Given the description of an element on the screen output the (x, y) to click on. 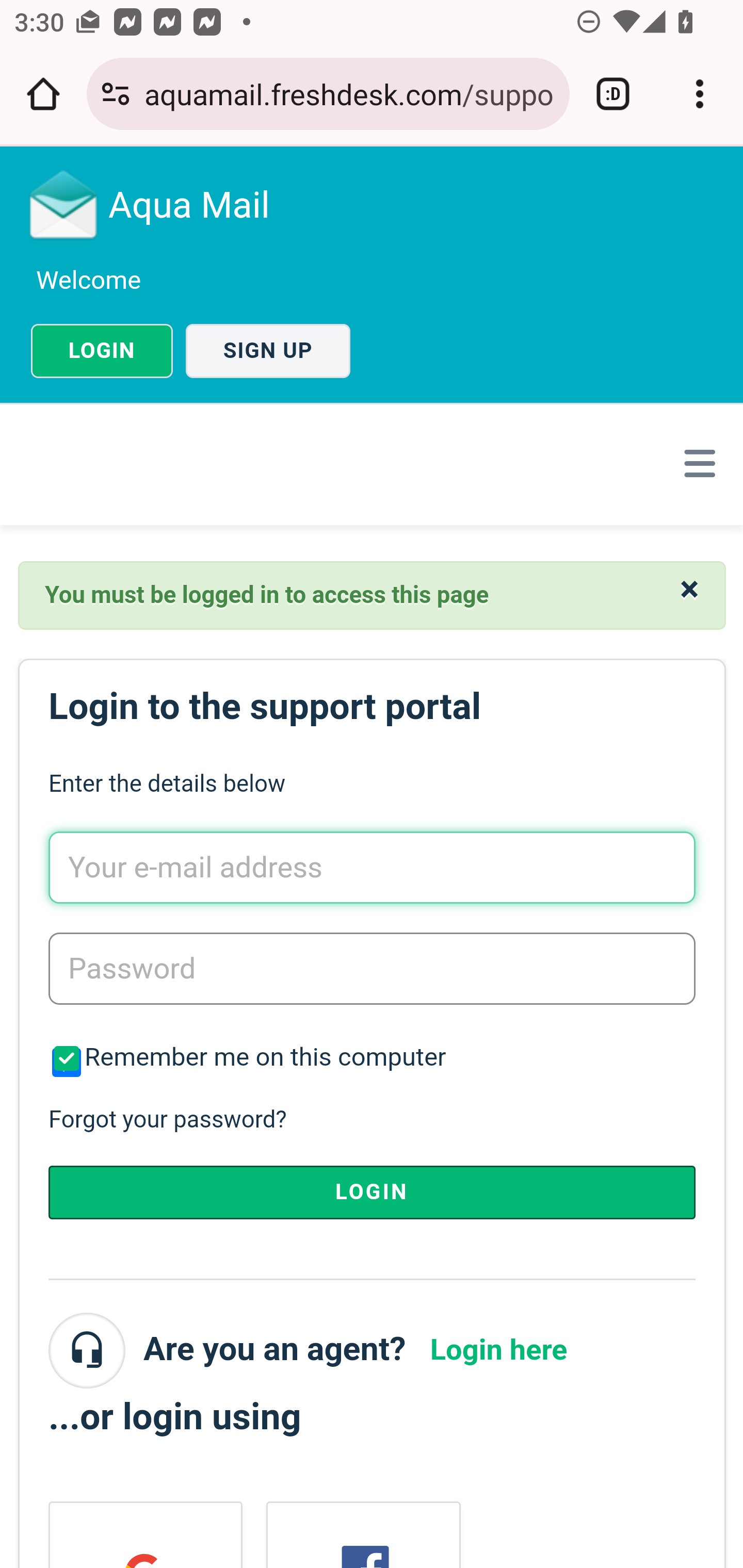
Open the home page (43, 93)
Connection is secure (115, 93)
Switch or close tabs (612, 93)
Customize and control Google Chrome (699, 93)
aquamail.freshdesk.com/support/login (349, 92)
Logo (63, 204)
LOGIN (101, 351)
SIGN UP (268, 351)
 (695, 463)
× (689, 589)
Remember me on this computer (65, 1062)
Forgot your password? (166, 1120)
LOGIN (371, 1191)
Login here (498, 1349)
